Given the description of an element on the screen output the (x, y) to click on. 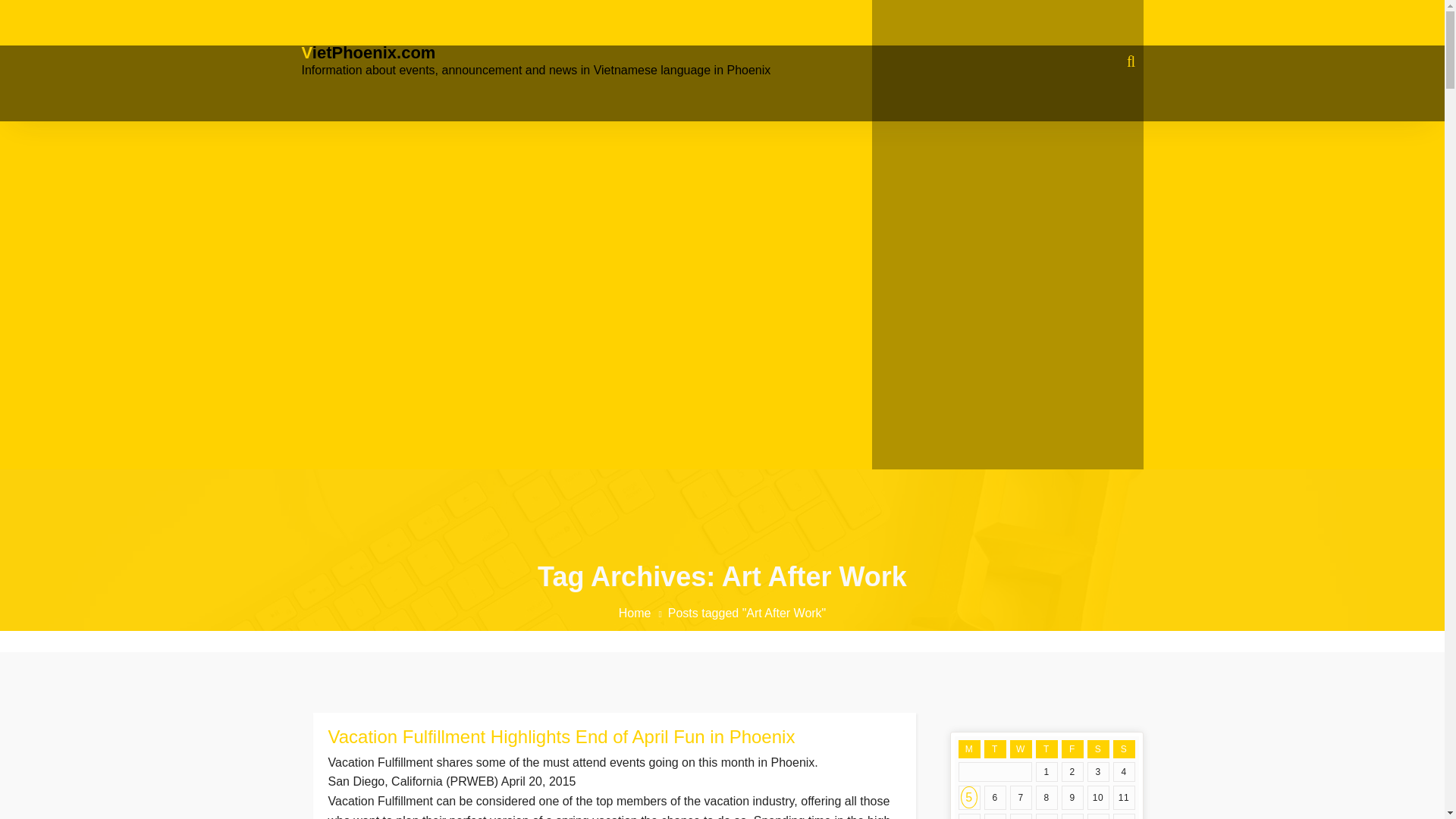
Home (643, 612)
Wednesday (1021, 749)
Tuesday (995, 749)
Saturday (1098, 749)
Friday (1072, 749)
Monday (968, 749)
Sunday (1124, 749)
Thursday (1046, 749)
Vacation Fulfillment Highlights End of April Fun in Phoenix (613, 737)
VietPhoenix.com (368, 52)
